Given the description of an element on the screen output the (x, y) to click on. 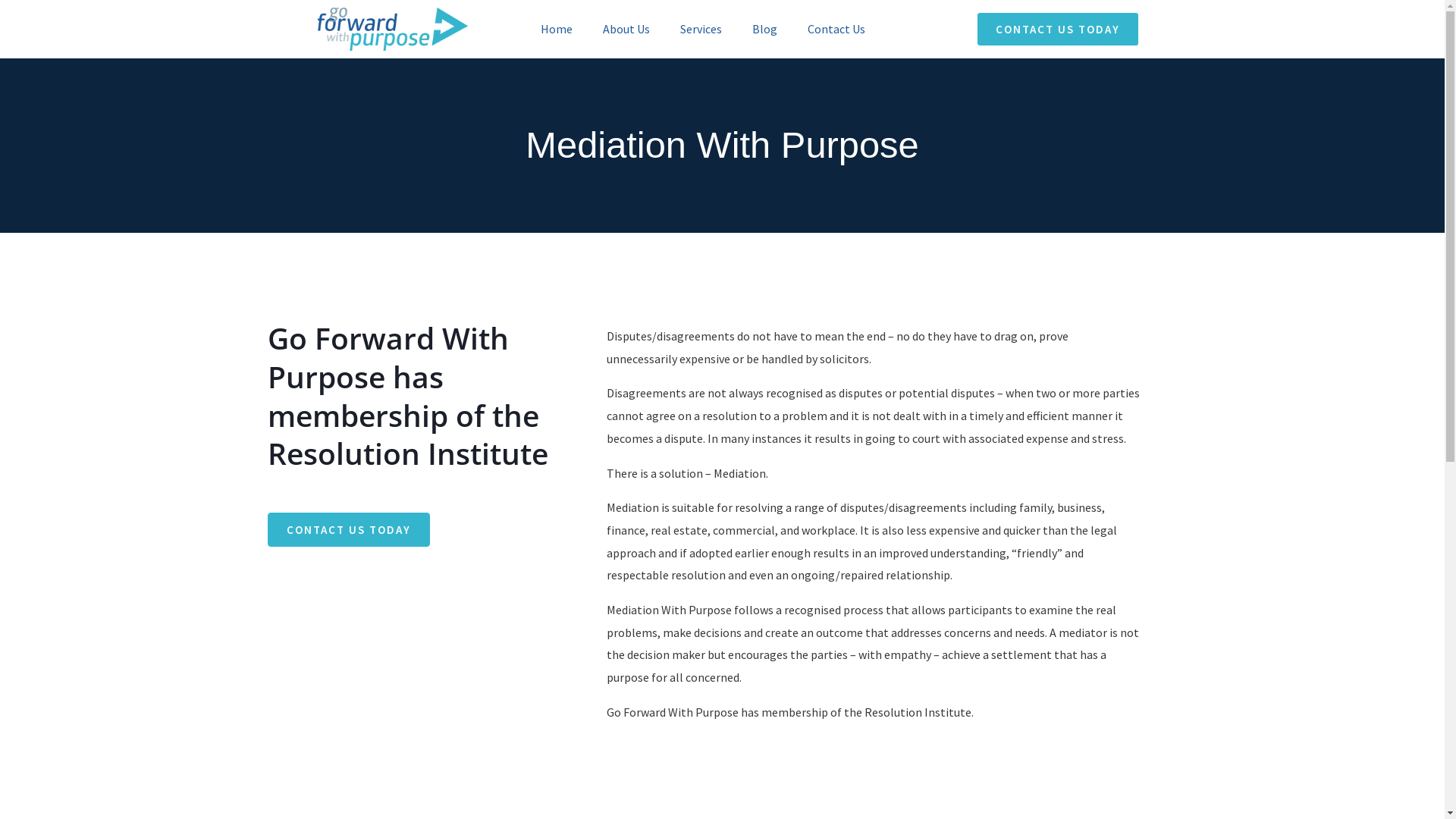
Blog Element type: text (764, 28)
Contact Us Element type: text (836, 28)
About Us Element type: text (626, 28)
CONTACT US TODAY Element type: text (1057, 29)
CONTACT US TODAY Element type: text (347, 529)
Home Element type: text (556, 28)
Services Element type: text (701, 28)
